Given the description of an element on the screen output the (x, y) to click on. 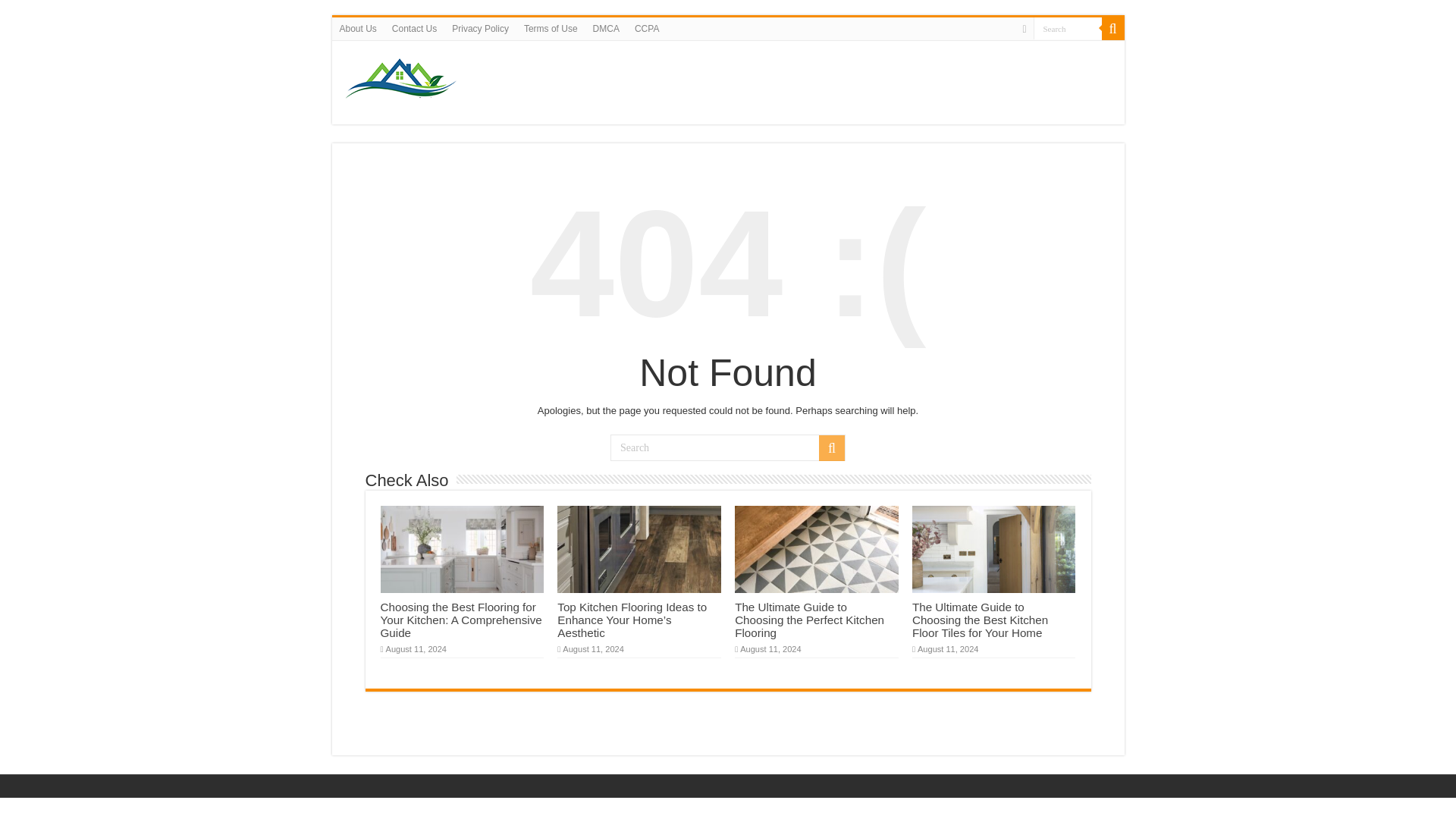
Search (727, 447)
About Us (357, 28)
Decorationg (403, 79)
Search (1066, 28)
Search (1066, 28)
Search (1112, 28)
Search (1066, 28)
Privacy Policy (480, 28)
Terms of Use (550, 28)
